Given the description of an element on the screen output the (x, y) to click on. 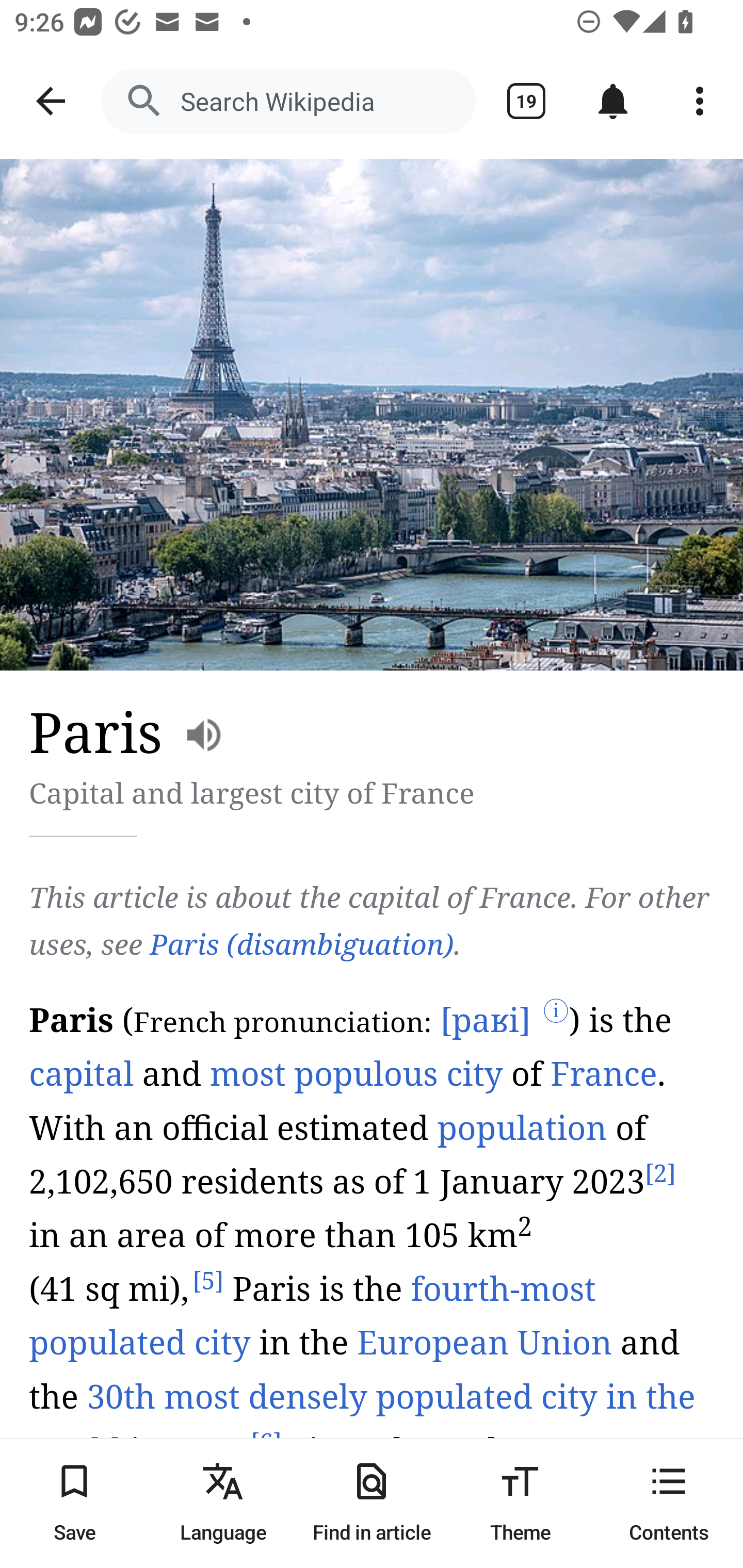
Show tabs 19 (525, 100)
Notifications (612, 100)
Navigate up (50, 101)
More options (699, 101)
Search Wikipedia (288, 100)
Image: Paris (371, 414)
Paris (disambiguation) (300, 944)
Play audio (372, 1280)
ⓘ (555, 1012)
[paʁi] [ paʁi ] (484, 1021)
capital (80, 1074)
most populous city (356, 1074)
France (604, 1074)
population (522, 1127)
[] [ 2 ] (659, 1174)
[] [ 5 ] (208, 1281)
fourth-most populated city (311, 1317)
European Union (484, 1343)
30th most densely populated city in the world (362, 1423)
Save (74, 1502)
Language (222, 1502)
Find in article (371, 1502)
Theme (519, 1502)
Contents (668, 1502)
